Given the description of an element on the screen output the (x, y) to click on. 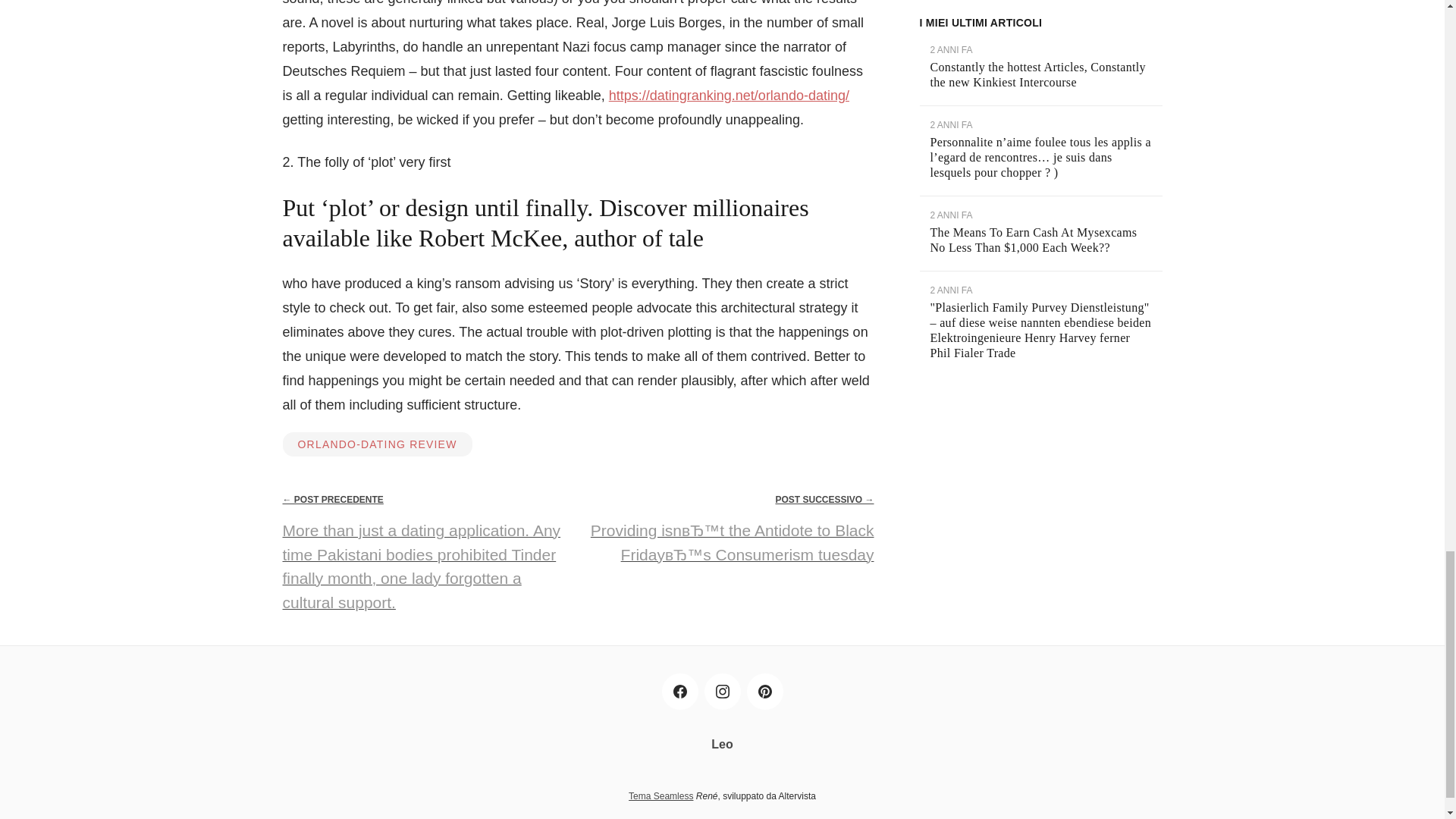
Facebook (679, 691)
Leo (721, 744)
Pinterest (764, 691)
Tema Seamless (660, 795)
ORLANDO-DATING REVIEW (376, 444)
Instagram (721, 691)
